Given the description of an element on the screen output the (x, y) to click on. 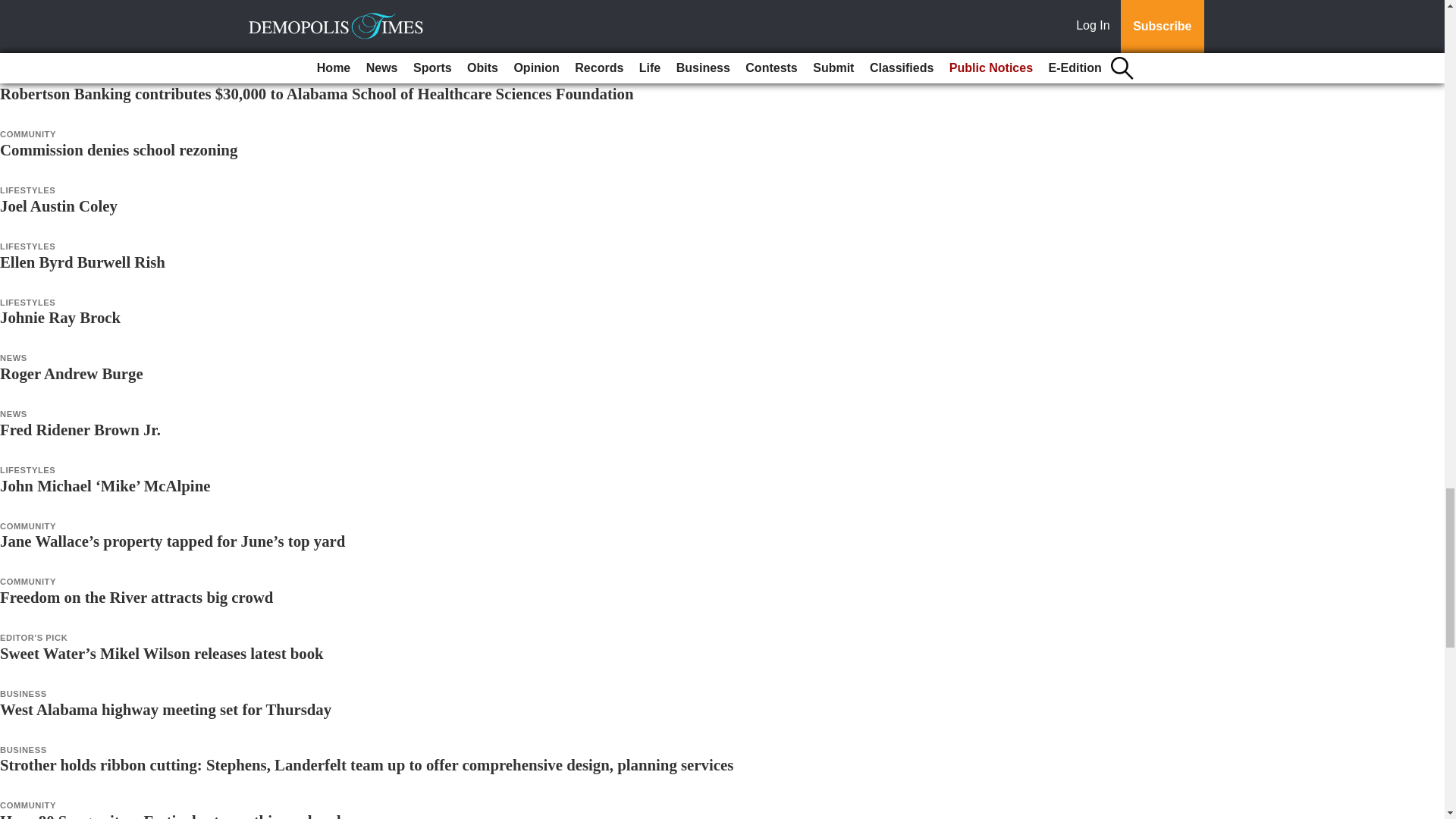
Joel Austin Coley (58, 205)
Ellen Byrd Burwell Rish (82, 262)
Johnie Ray Brock (60, 316)
Freedom on the River attracts big crowd (136, 597)
Commission denies school rezoning (118, 149)
Fred Ridener Brown Jr. (80, 429)
